Given the description of an element on the screen output the (x, y) to click on. 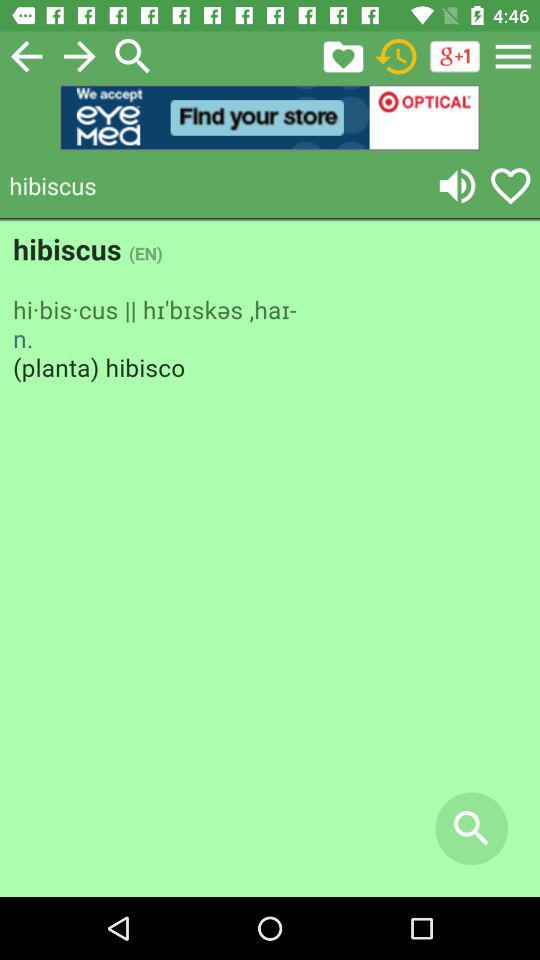
folder button (343, 56)
